Given the description of an element on the screen output the (x, y) to click on. 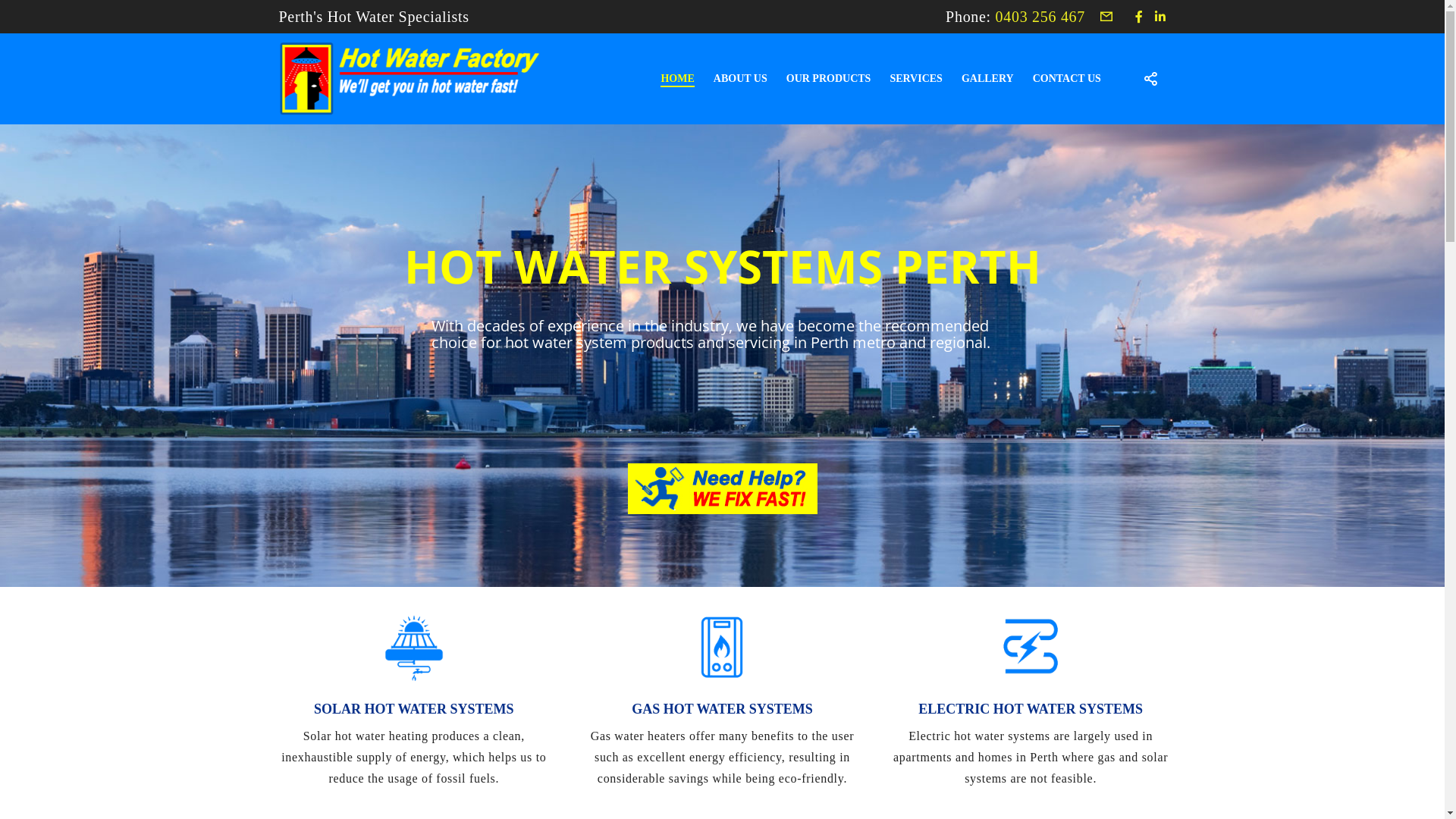
GALLERY Element type: text (977, 78)
0403 256 467 Element type: text (1040, 16)
ABOUT US Element type: text (730, 78)
SERVICES Element type: text (906, 78)
HOME Element type: text (667, 78)
CONTACT US Element type: text (1057, 78)
OUR PRODUCTS Element type: text (819, 78)
